Given the description of an element on the screen output the (x, y) to click on. 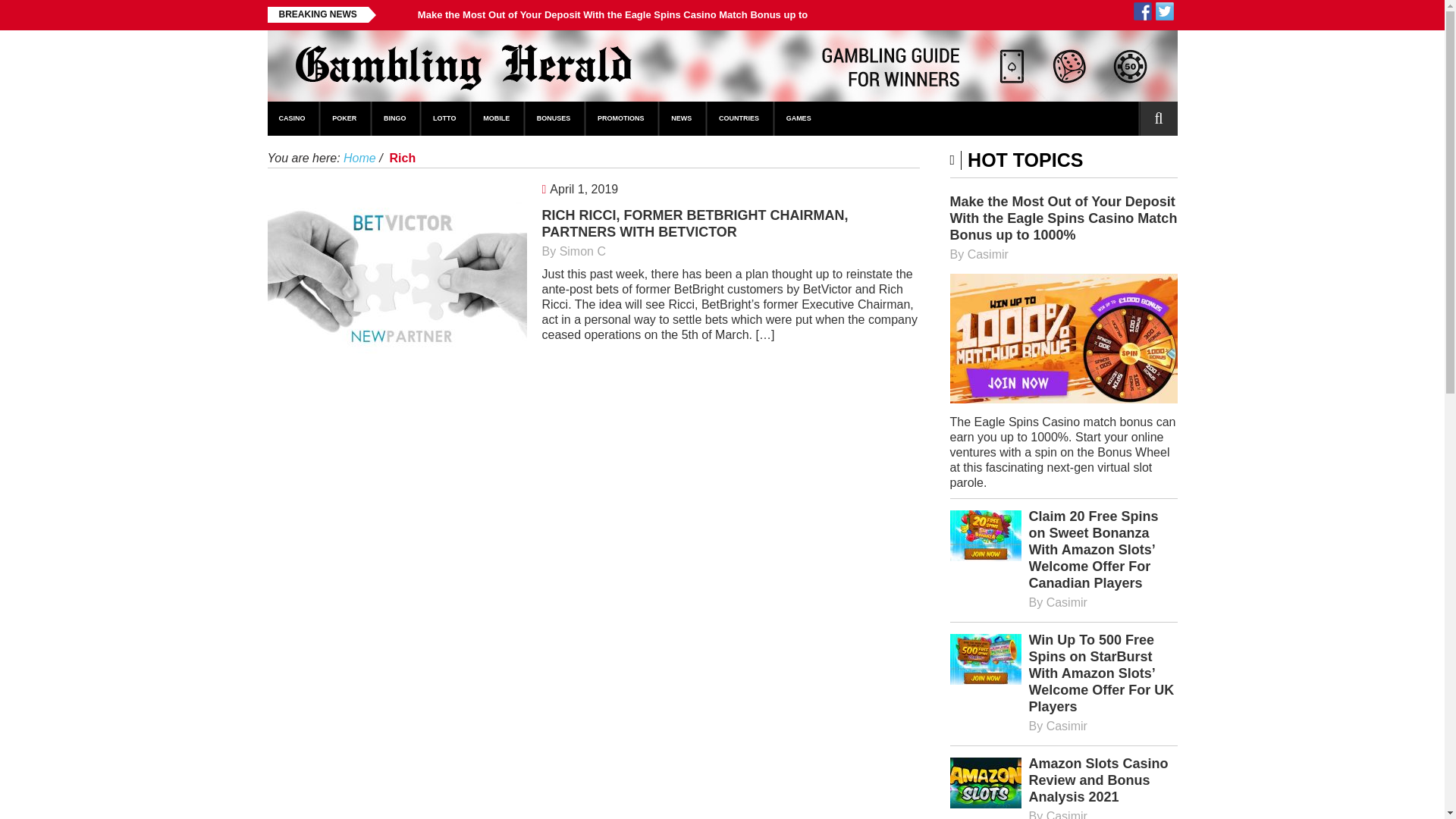
LOTTO (445, 118)
MOBILE (497, 118)
CASINO (293, 118)
Posts by Casimir (1066, 602)
BONUSES (554, 118)
POKER (344, 118)
Follow us on Facebook (1141, 11)
Posts by Casimir (1066, 814)
Posts by Casimir (1066, 725)
Posts by Casimir (988, 254)
BINGO (395, 118)
Follow us on Twitter (1164, 11)
Posts by Simon C (582, 250)
